Given the description of an element on the screen output the (x, y) to click on. 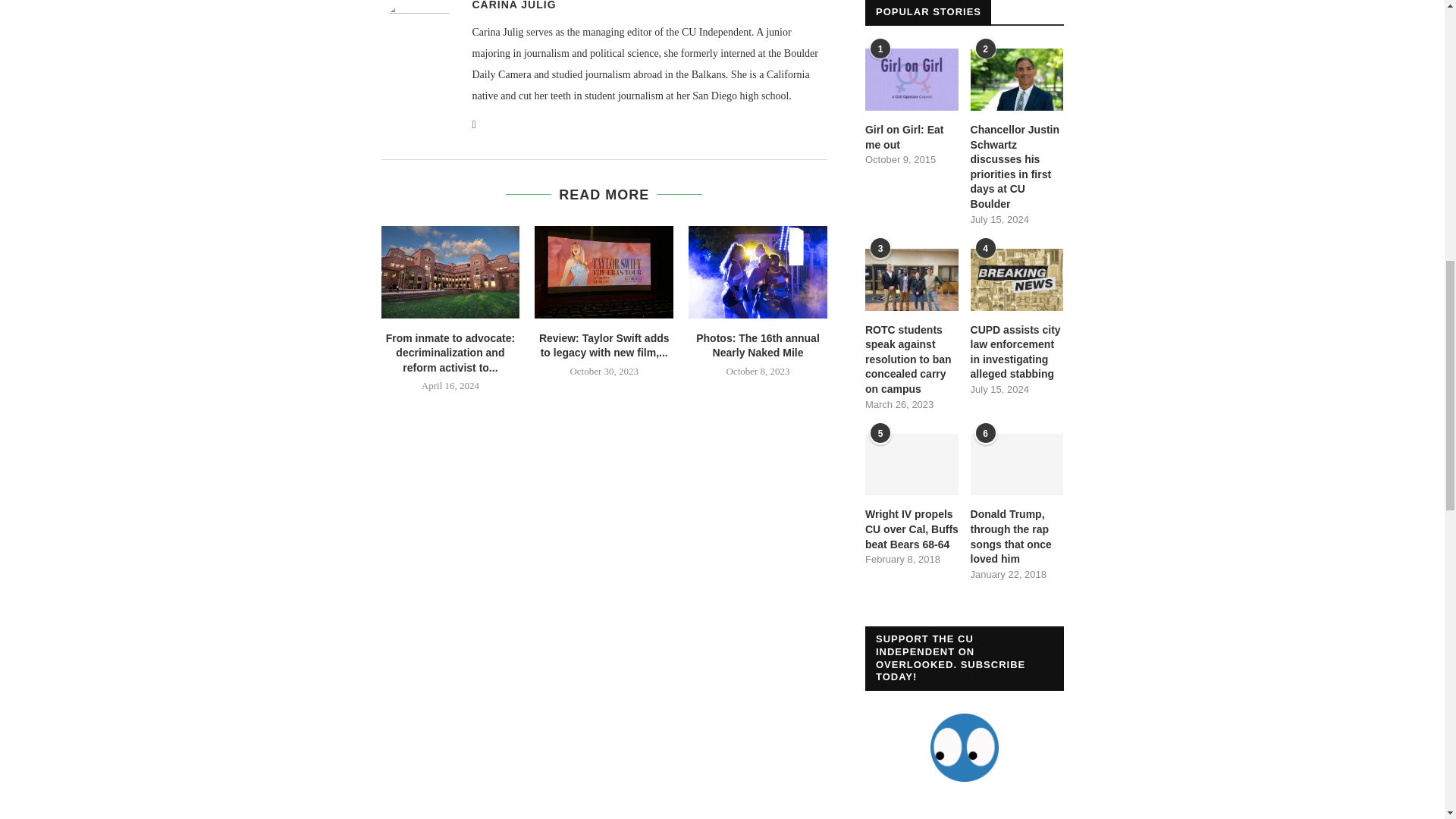
Wright IV propels CU over Cal, Buffs beat Bears 68-64 (911, 529)
Posts by Carina Julig (513, 5)
Girl on Girl: Eat me out (911, 79)
Wright IV propels CU over Cal, Buffs beat Bears 68-64 (911, 465)
Girl on Girl: Eat me out (911, 137)
Photos: The 16th annual Nearly Naked Mile (757, 272)
